Given the description of an element on the screen output the (x, y) to click on. 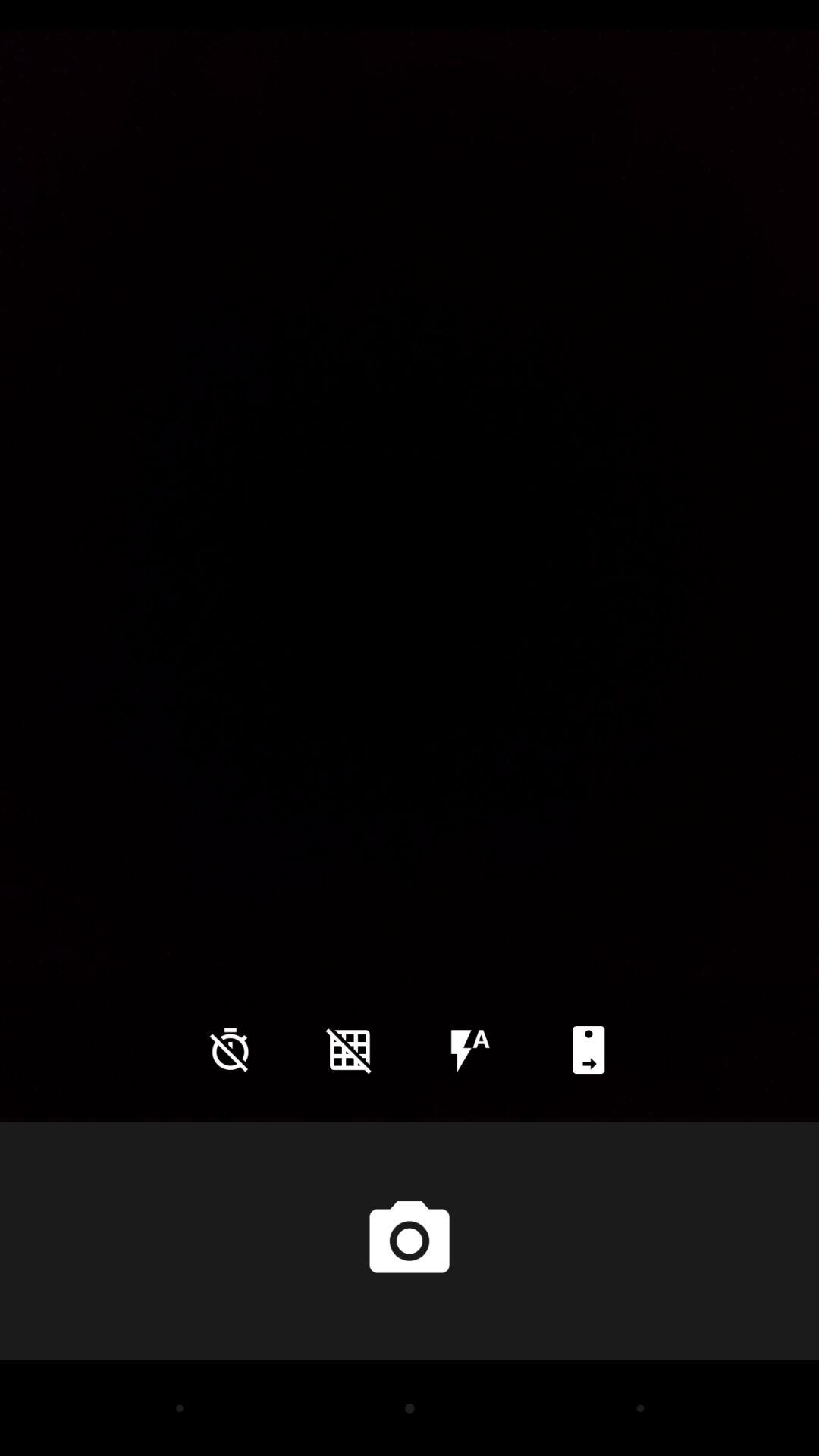
click icon at the bottom left corner (230, 1049)
